Given the description of an element on the screen output the (x, y) to click on. 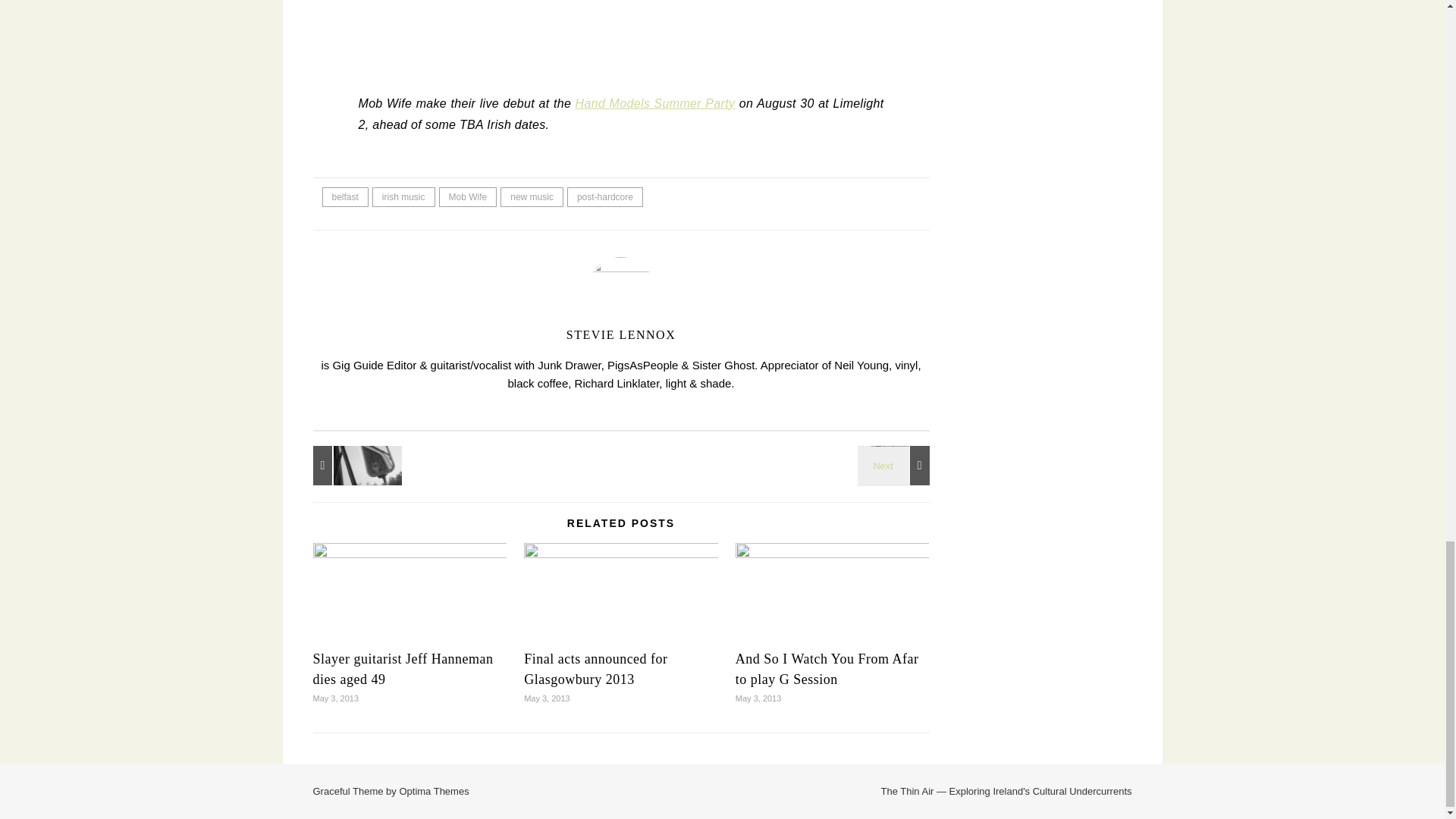
Pull Focus: The Image You Missed (346, 465)
Pull Focus: The Lonely Battle of Thomas Reid (895, 465)
Posts by Stevie Lennox (620, 334)
